Given the description of an element on the screen output the (x, y) to click on. 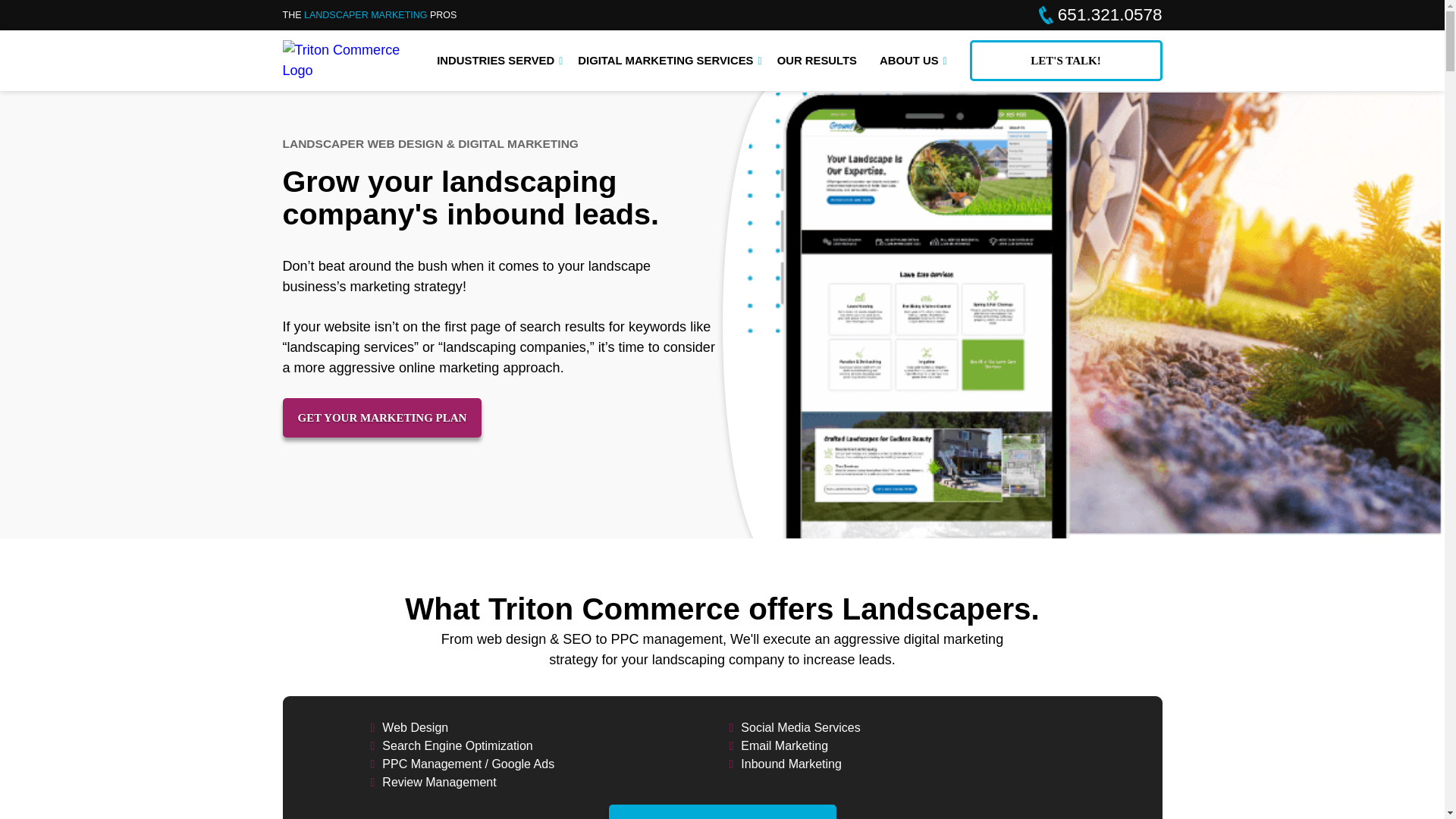
ABOUT US (910, 60)
INDUSTRIES SERVED (496, 60)
Digital Marketing Services (666, 60)
Triton Commerce (344, 70)
OUR RESULTS (817, 60)
Landscaper Digital Marketing (366, 14)
Our Results (817, 60)
DIGITAL MARKETING SERVICES (666, 60)
About Us (910, 60)
651.321.0578 (1100, 14)
Industries Served (496, 60)
Call Us (1100, 14)
LET'S TALK! (1065, 60)
LANDSCAPER MARKETING (366, 14)
Triton Commerce (344, 60)
